Given the description of an element on the screen output the (x, y) to click on. 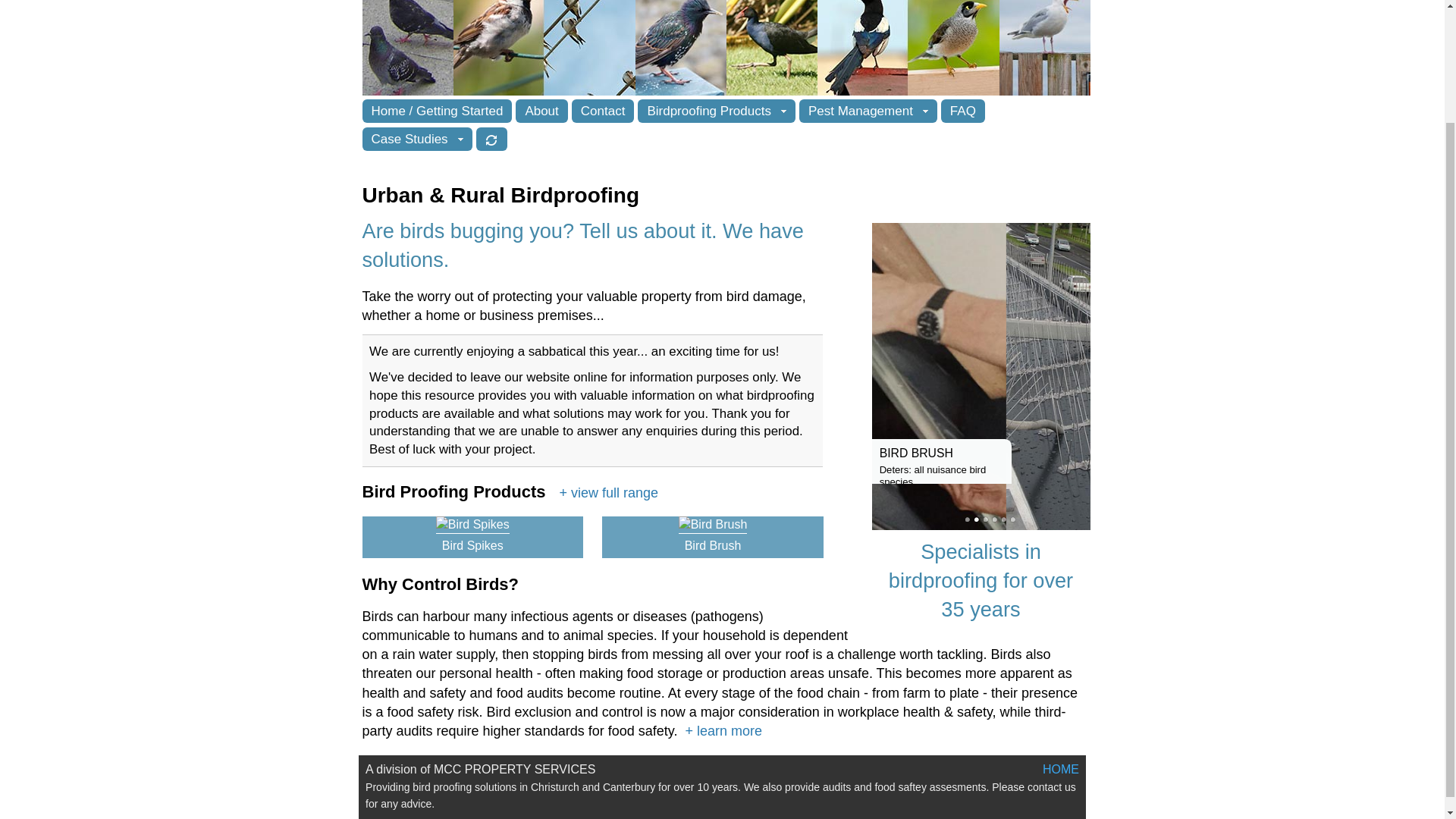
Bird Spikes (967, 519)
Case Study (1013, 519)
Bird Wire (1004, 519)
Case Studies (416, 138)
Pest Management (868, 110)
Birdproofing Products (715, 110)
Bird Netting (985, 519)
Contact (603, 110)
FAQ (962, 110)
About (541, 110)
